Given the description of an element on the screen output the (x, y) to click on. 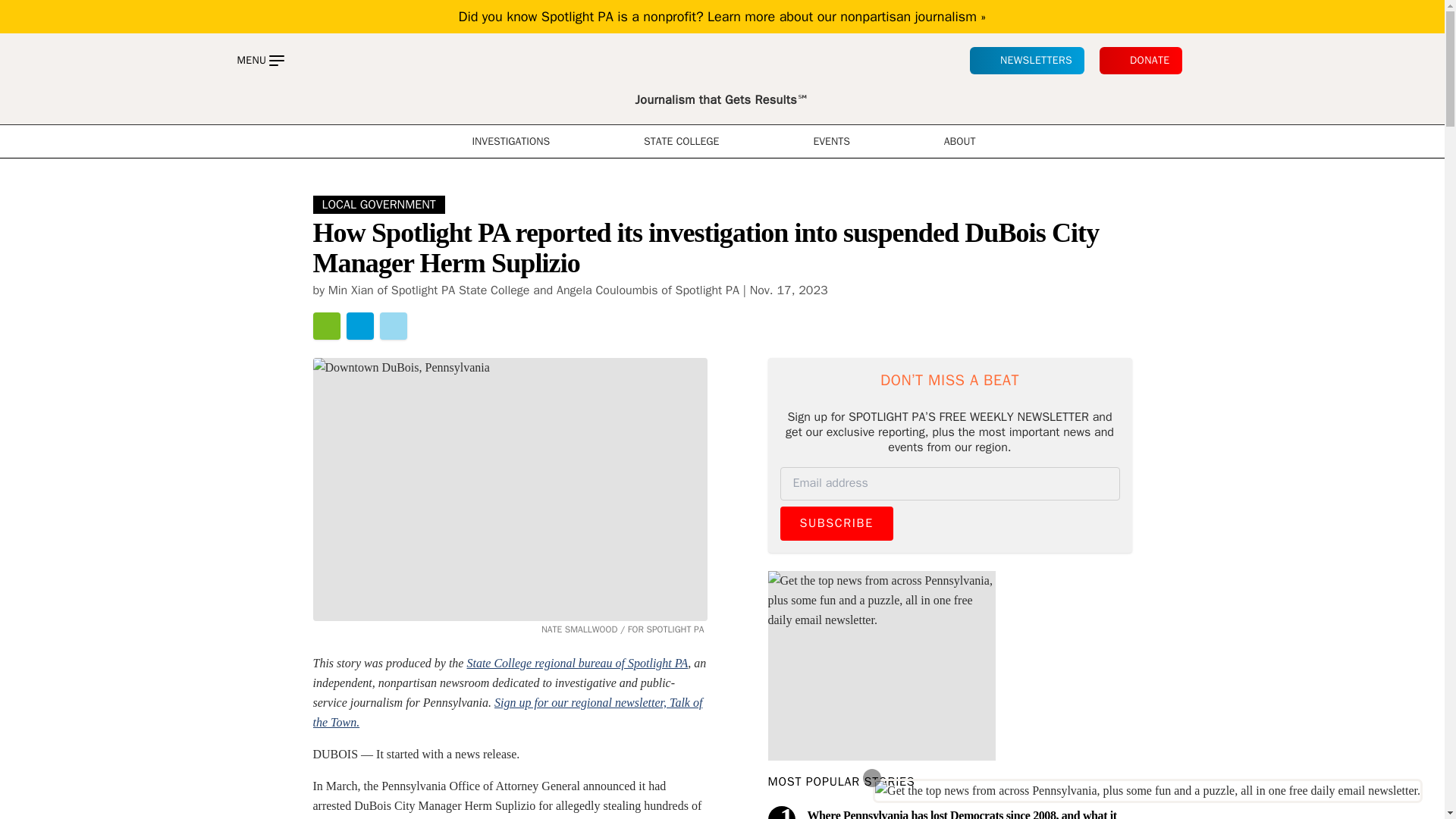
Share this page by email (326, 325)
Share this page on Facebook (359, 325)
Tweet about this page (392, 325)
MENU (259, 60)
Downtown DuBois, Pennsylvania (509, 488)
